Given the description of an element on the screen output the (x, y) to click on. 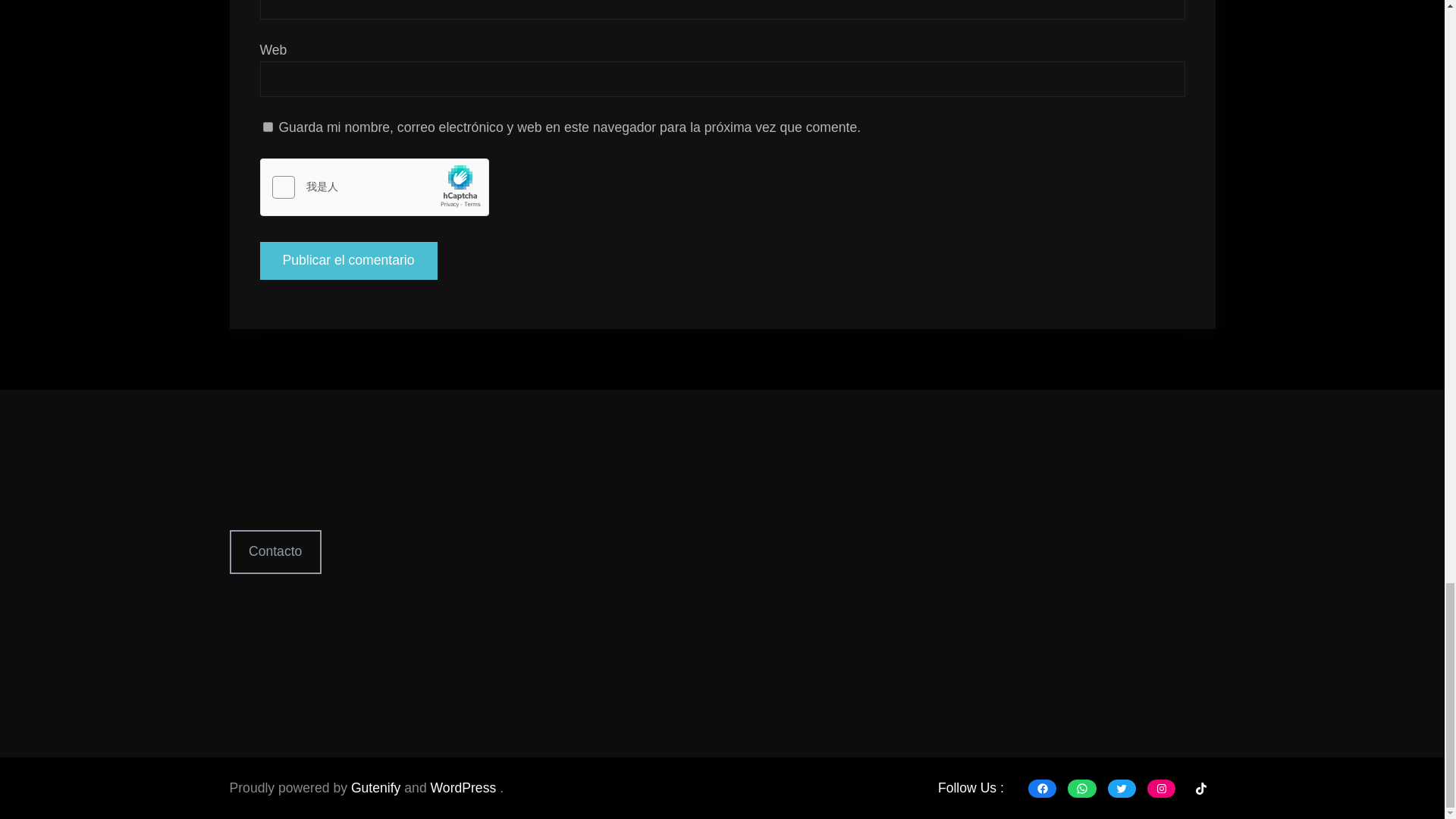
Gutenify (377, 787)
Twitter (1121, 788)
Publicar el comentario (347, 354)
Facebook (1042, 788)
Instagram (1160, 788)
Widget containing checkbox for hCaptcha security challenge (374, 187)
Contacto (274, 551)
Publicar el comentario (347, 260)
TikTok (1200, 788)
WordPress (465, 787)
